Given the description of an element on the screen output the (x, y) to click on. 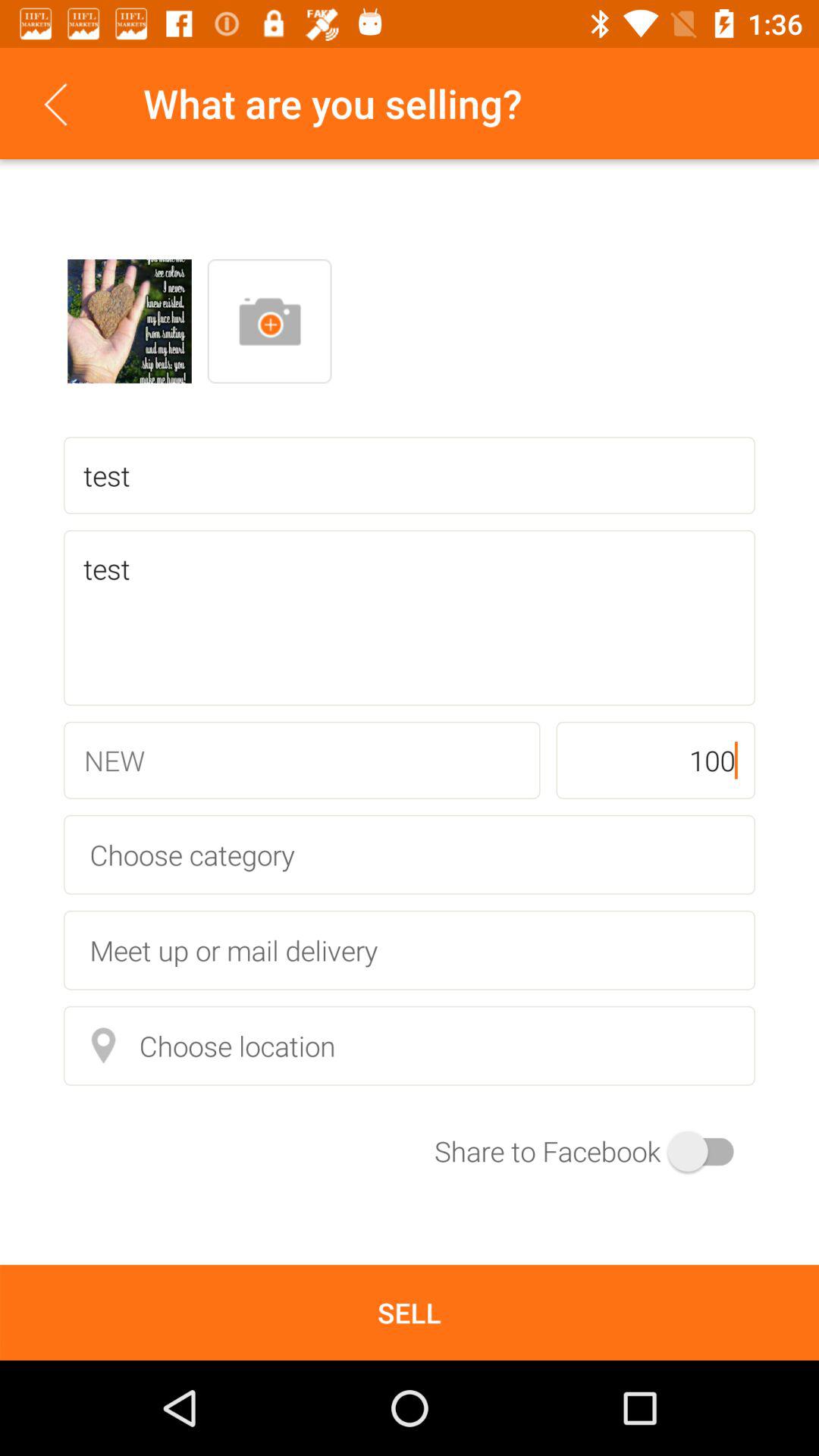
turn on the item above the meet up or item (409, 854)
